Given the description of an element on the screen output the (x, y) to click on. 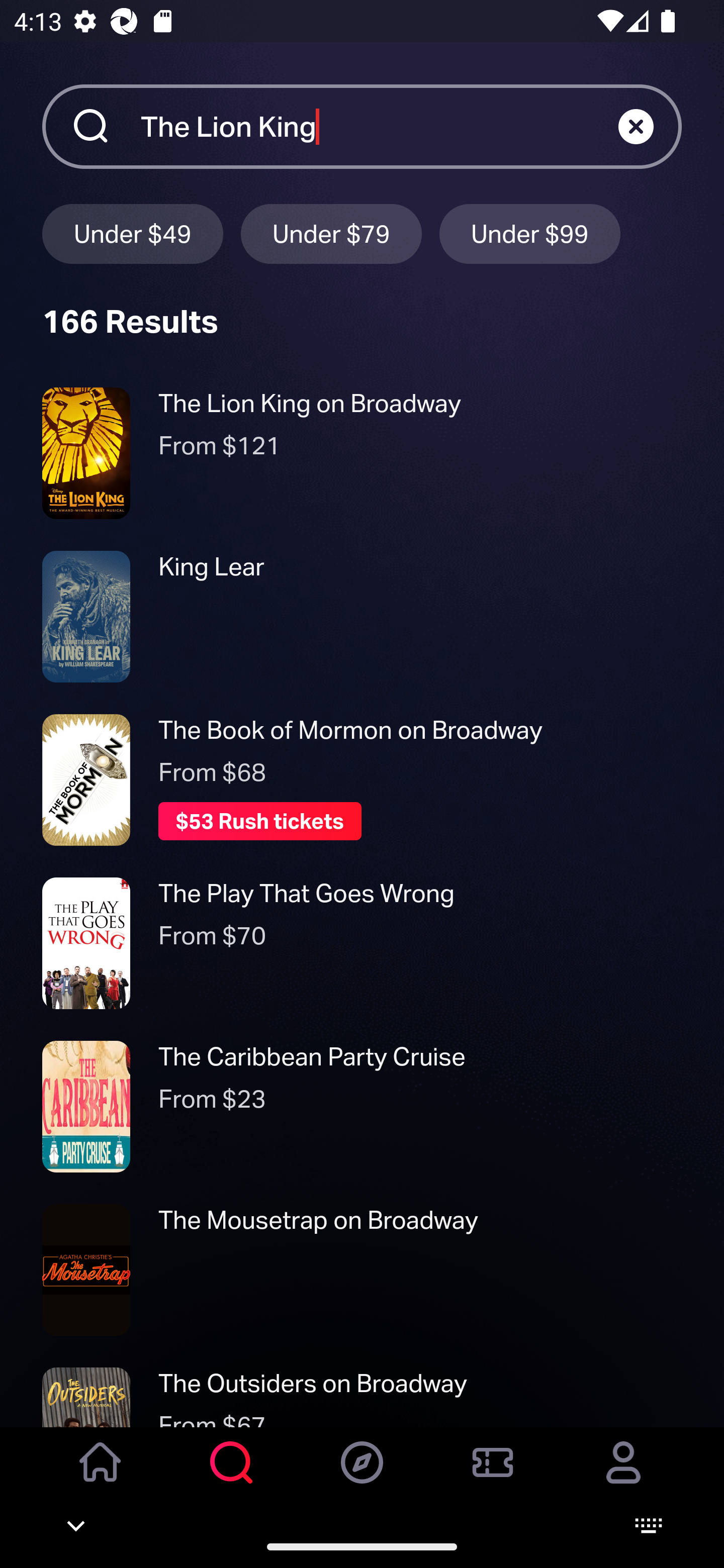
The Lion King (379, 126)
Under $49 (131, 233)
Under $79 (331, 233)
Under $99 (529, 233)
King Lear  King Lear (361, 616)
Home (100, 1475)
Discover (361, 1475)
Orders (492, 1475)
Account (623, 1475)
